Given the description of an element on the screen output the (x, y) to click on. 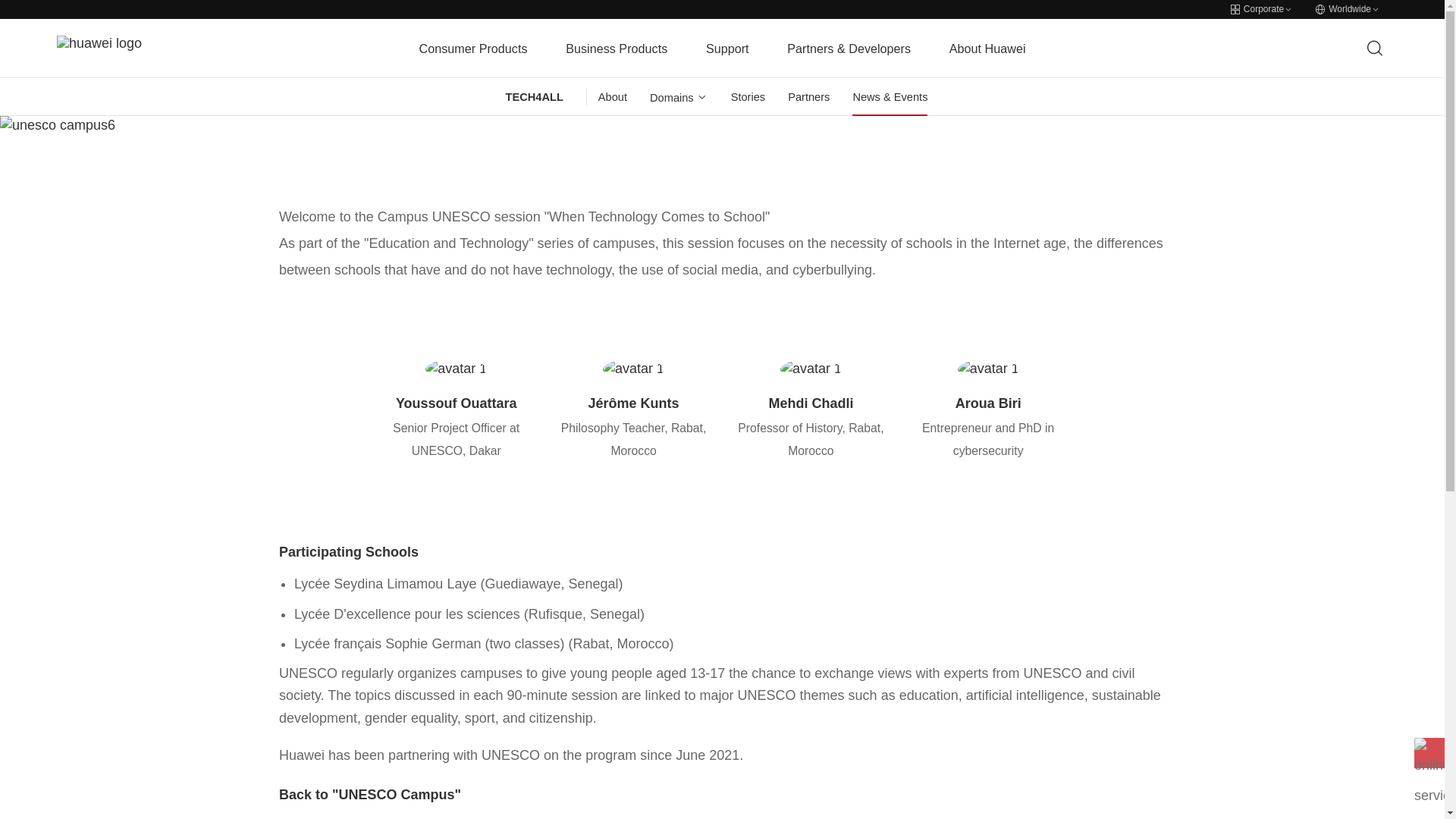
Worldwide (1347, 9)
Corporate (1261, 9)
